Given the description of an element on the screen output the (x, y) to click on. 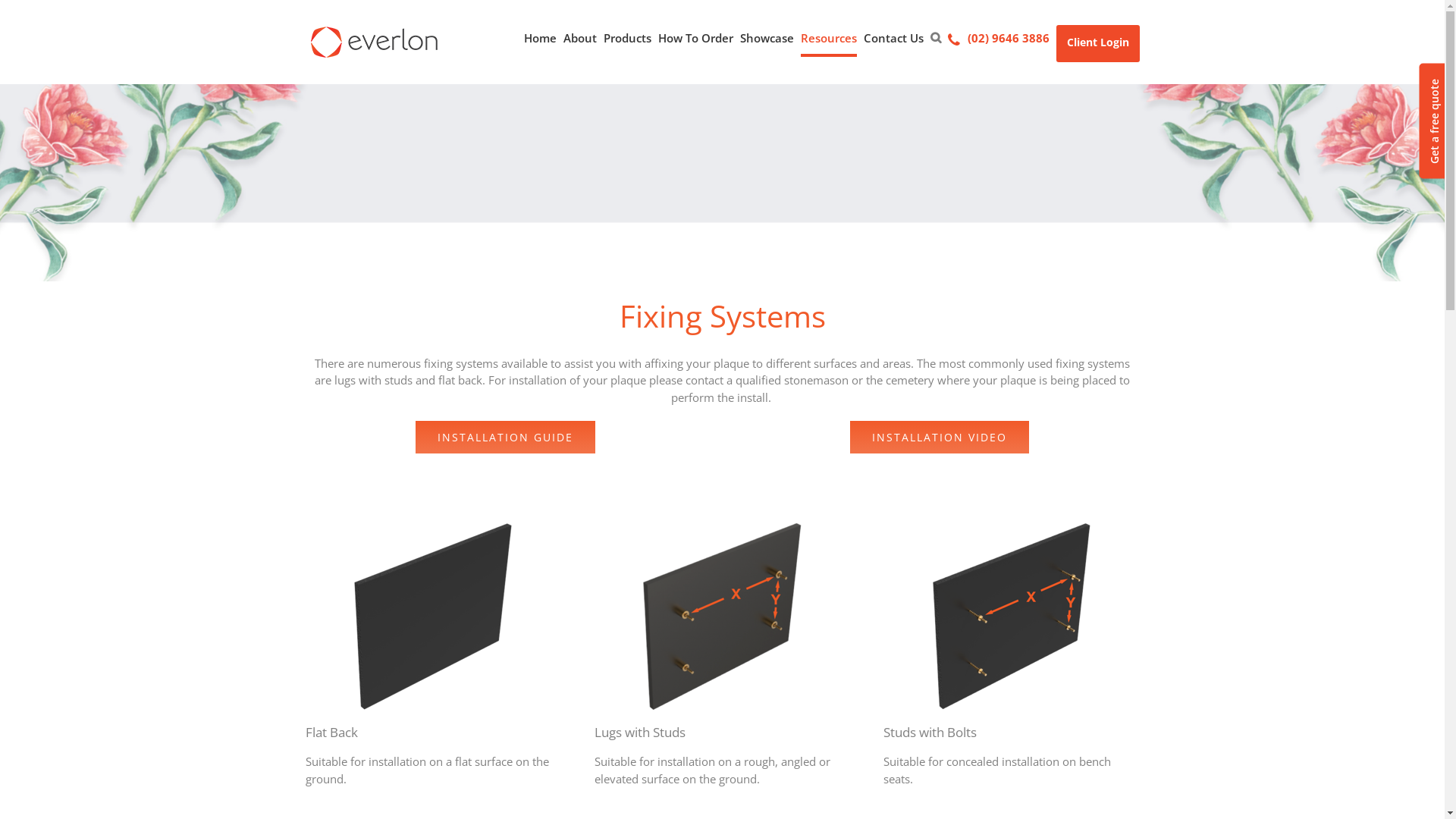
INSTALLATION VIDEO Element type: text (938, 436)
Resources Element type: text (828, 39)
About Element type: text (579, 39)
Fixing-08 Element type: hover (721, 616)
Fixing-07 Element type: hover (432, 616)
Contact Us Element type: text (892, 39)
INSTALLATION GUIDE Element type: text (505, 436)
Products Element type: text (627, 39)
(02) 9646 3886 Element type: text (998, 39)
How To Order Element type: text (695, 39)
Home Element type: text (539, 39)
Showcase Element type: text (766, 39)
Client Login Element type: text (1097, 43)
Fixing-02 Element type: hover (1011, 616)
